Given the description of an element on the screen output the (x, y) to click on. 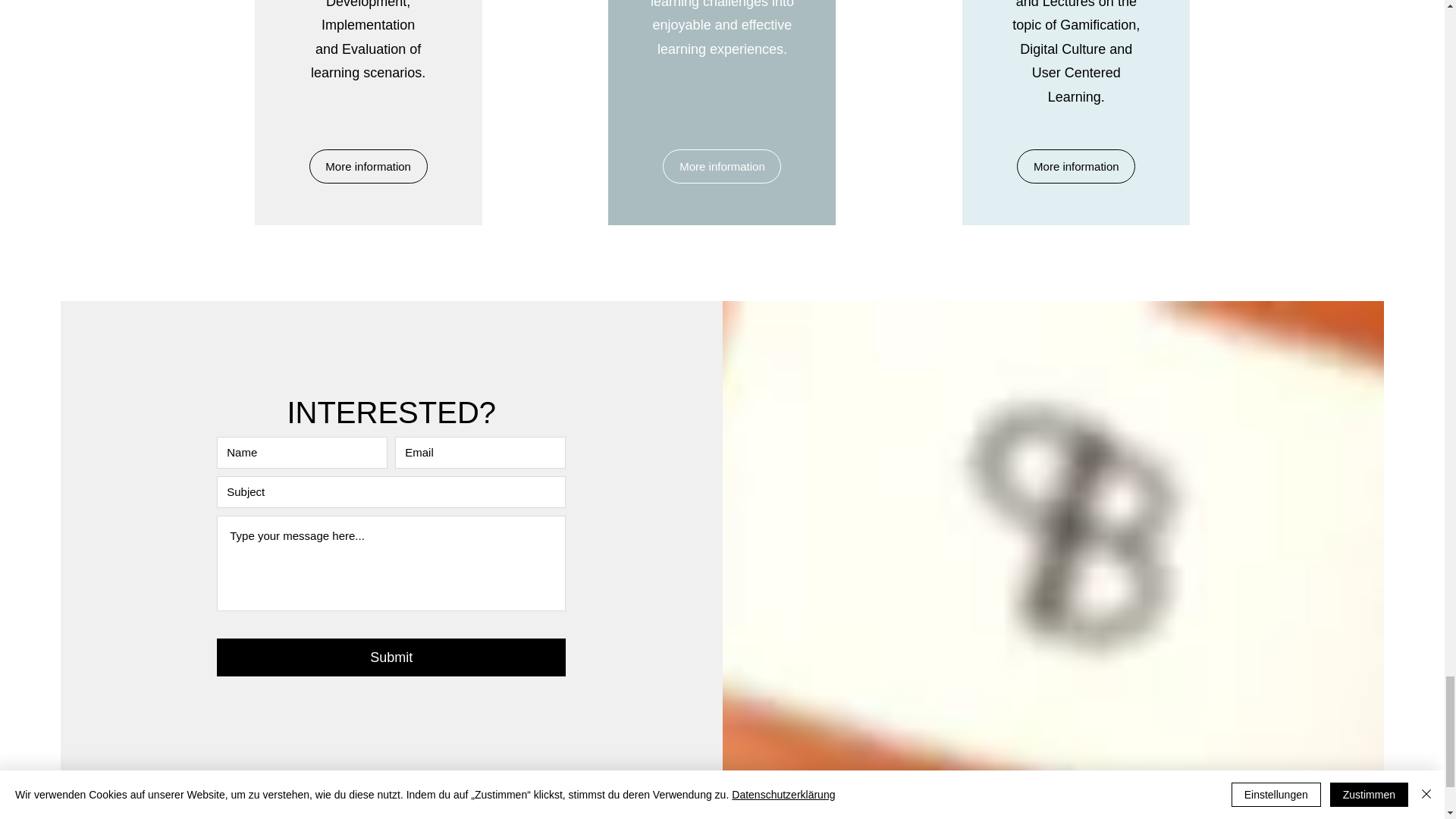
More information (368, 166)
More information (721, 166)
More information (1075, 166)
Submit (391, 657)
